Given the description of an element on the screen output the (x, y) to click on. 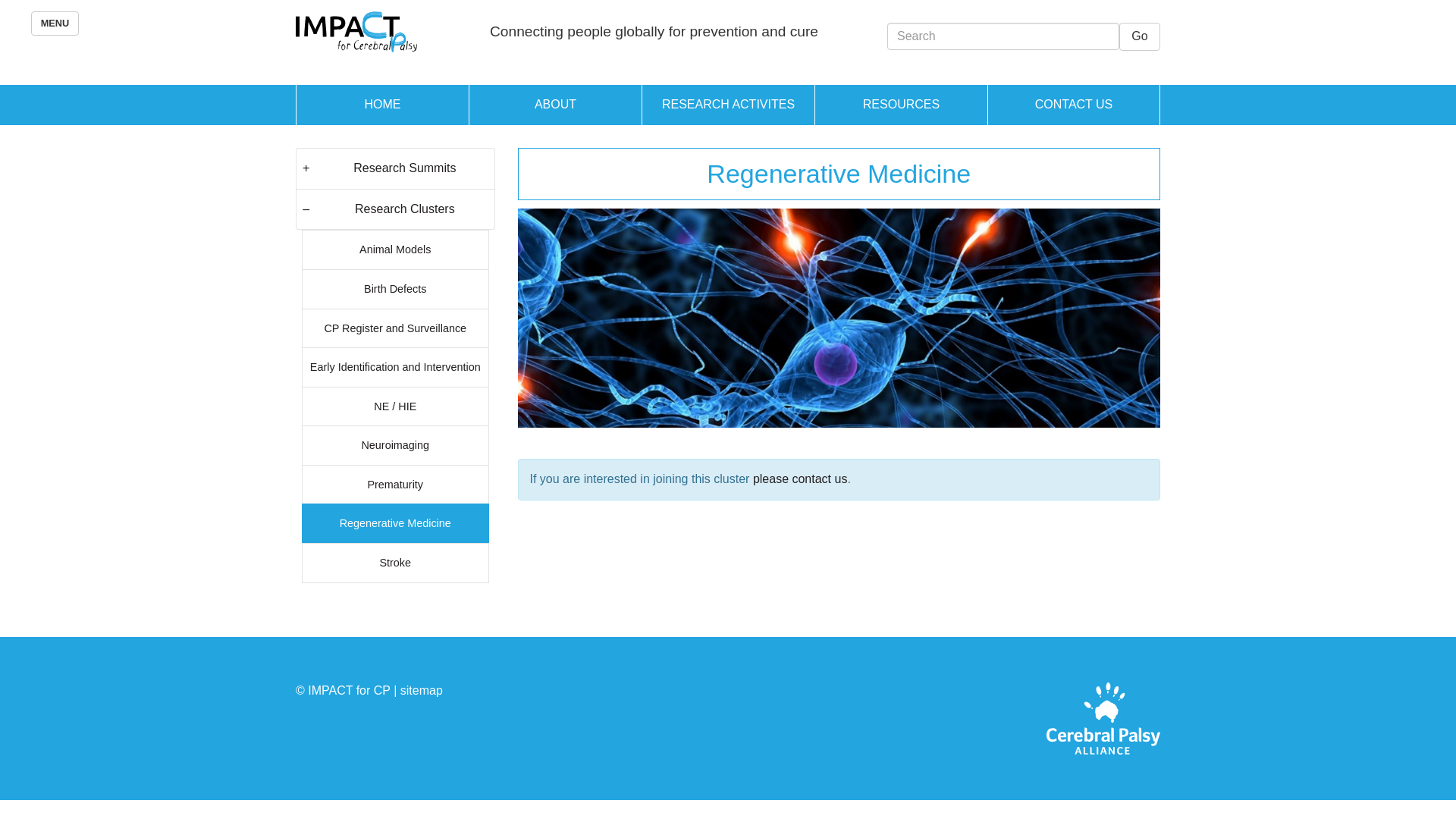
Research Summits Element type: text (404, 167)
ABOUT Element type: text (554, 104)
CONTACT US Element type: text (1073, 104)
Neuroimaging Element type: text (395, 444)
please contact us Element type: text (800, 478)
Prematurity Element type: text (395, 484)
Stroke Element type: text (395, 562)
HOME Element type: text (381, 104)
MENU Element type: text (55, 23)
RESOURCES Element type: text (900, 104)
Research Clusters Element type: text (404, 209)
RESEARCH ACTIVITES Element type: text (727, 104)
NE / HIE Element type: text (395, 406)
CP Register and Surveillance Element type: text (395, 328)
Birth Defects Element type: text (395, 288)
+ Element type: text (305, 167)
Go Element type: text (1139, 36)
sitemap Element type: text (421, 690)
Regenerative Medicine Element type: text (395, 522)
Animal Models Element type: text (395, 249)
Early Identification and Intervention Element type: text (395, 366)
IMPACT for CP Element type: hover (356, 31)
